Given the description of an element on the screen output the (x, y) to click on. 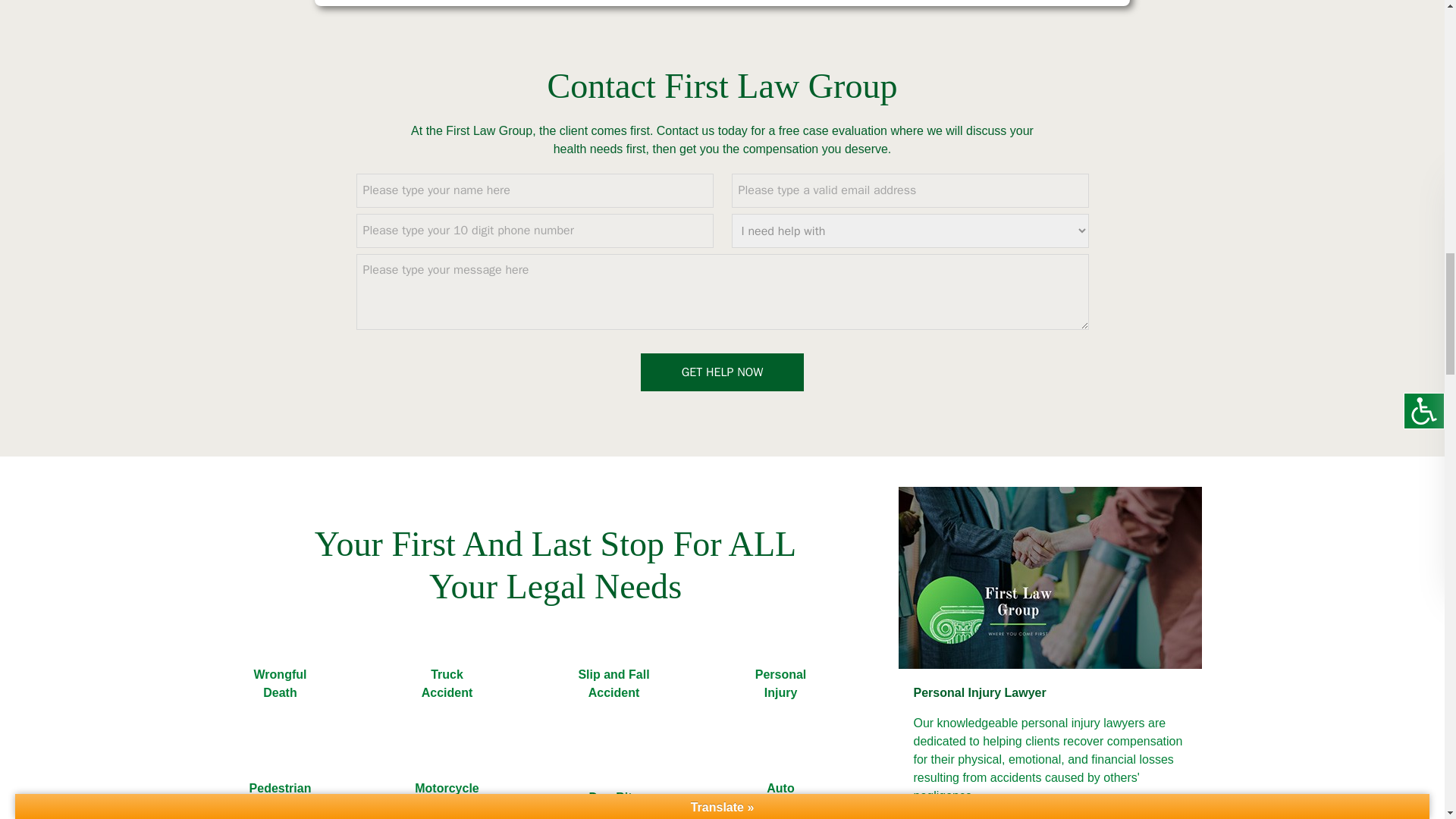
Personal Injury (779, 683)
Motorcycle Accident (446, 783)
GET HELP NOW (721, 371)
Wrongful Death (279, 683)
Pedestrian Accident (279, 783)
Truck Accident (446, 683)
Slip and Fall Accident (613, 683)
